Given the description of an element on the screen output the (x, y) to click on. 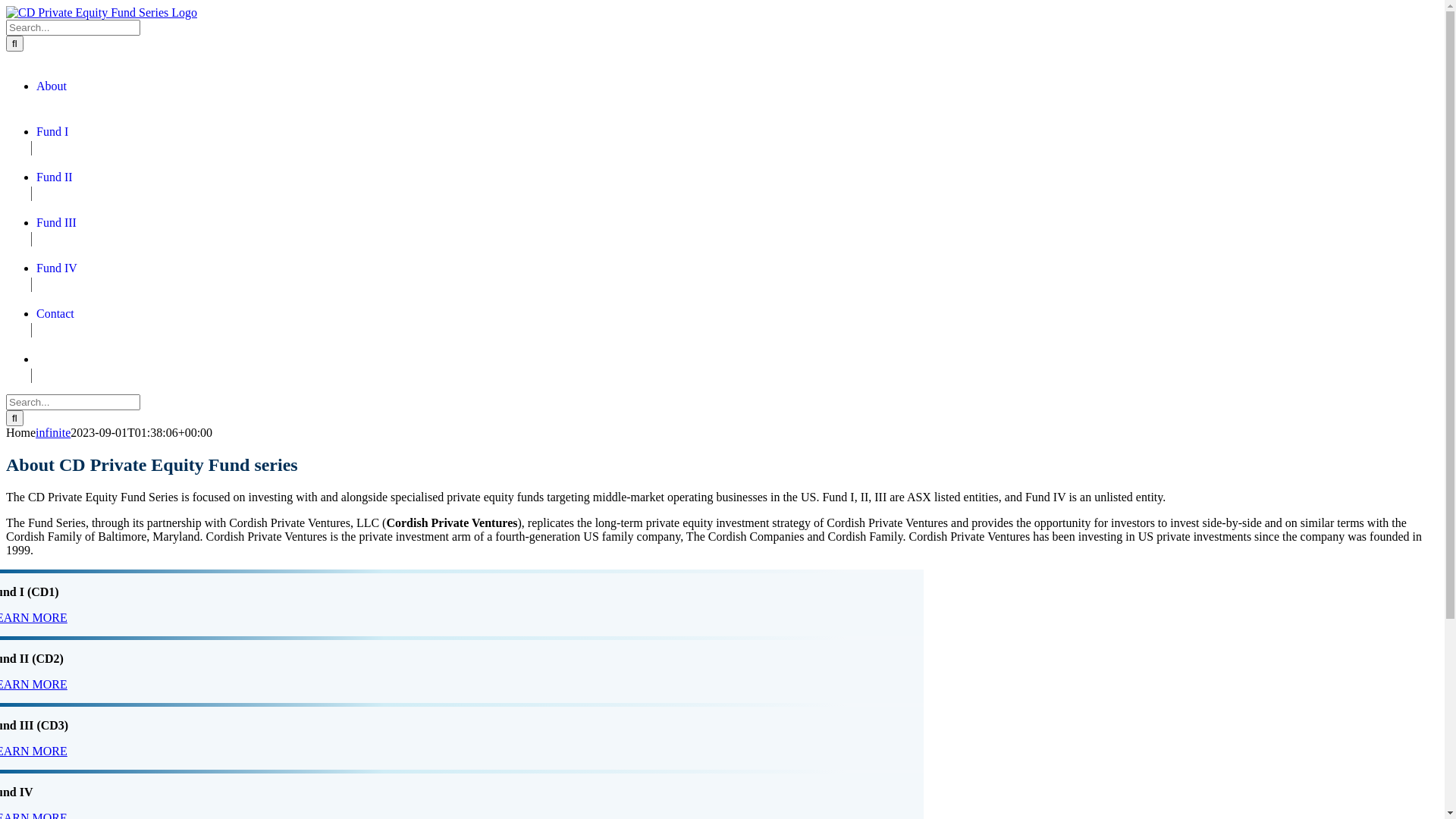
Fund III Element type: text (56, 222)
Fund I Element type: text (52, 131)
Skip to content Element type: text (5, 5)
Fund IV Element type: text (56, 267)
About Element type: text (51, 85)
Contact Element type: text (55, 313)
Fund II Element type: text (54, 176)
infinite Element type: text (52, 432)
